Given the description of an element on the screen output the (x, y) to click on. 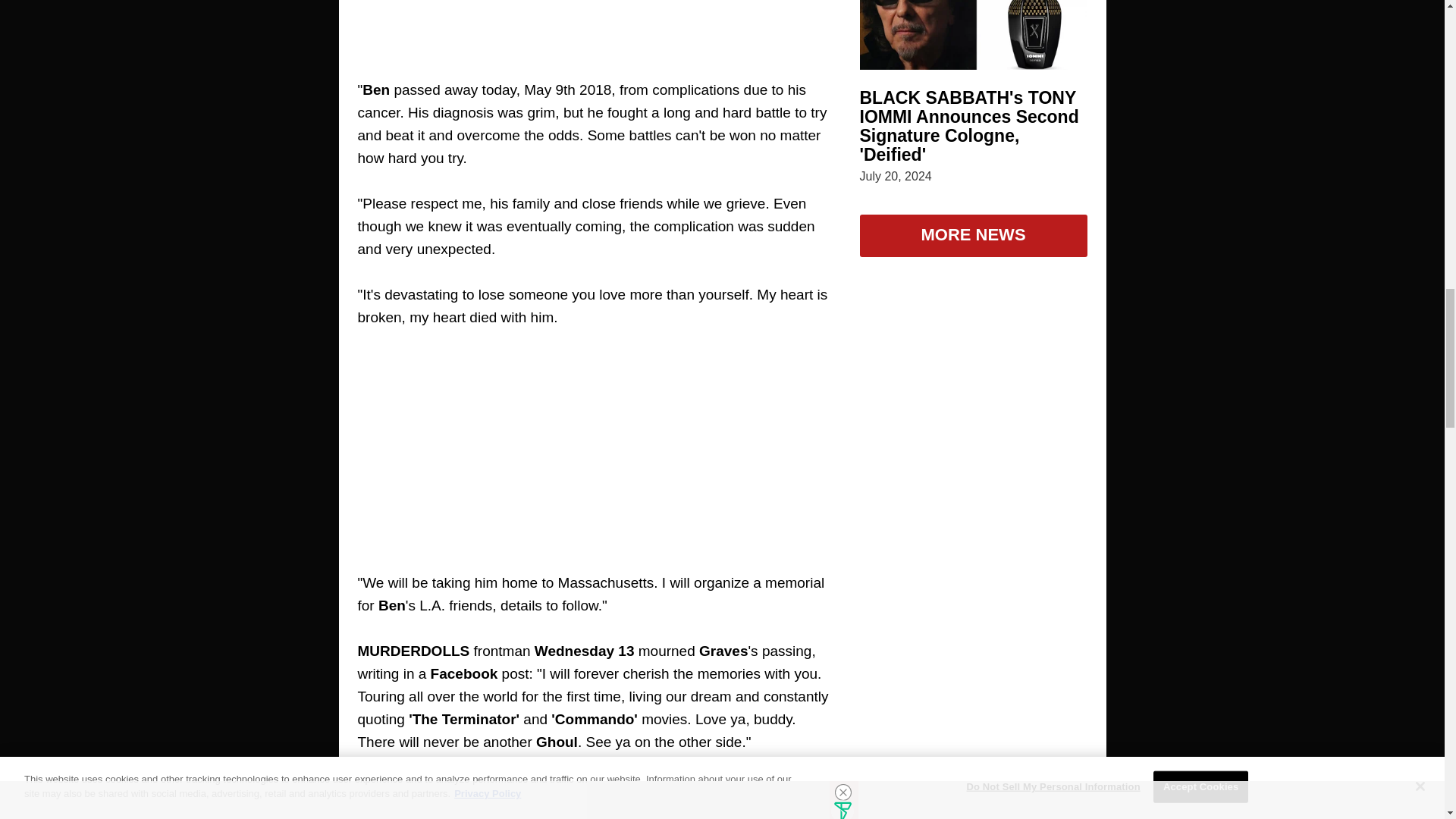
Metalliville (452, 810)
